Given the description of an element on the screen output the (x, y) to click on. 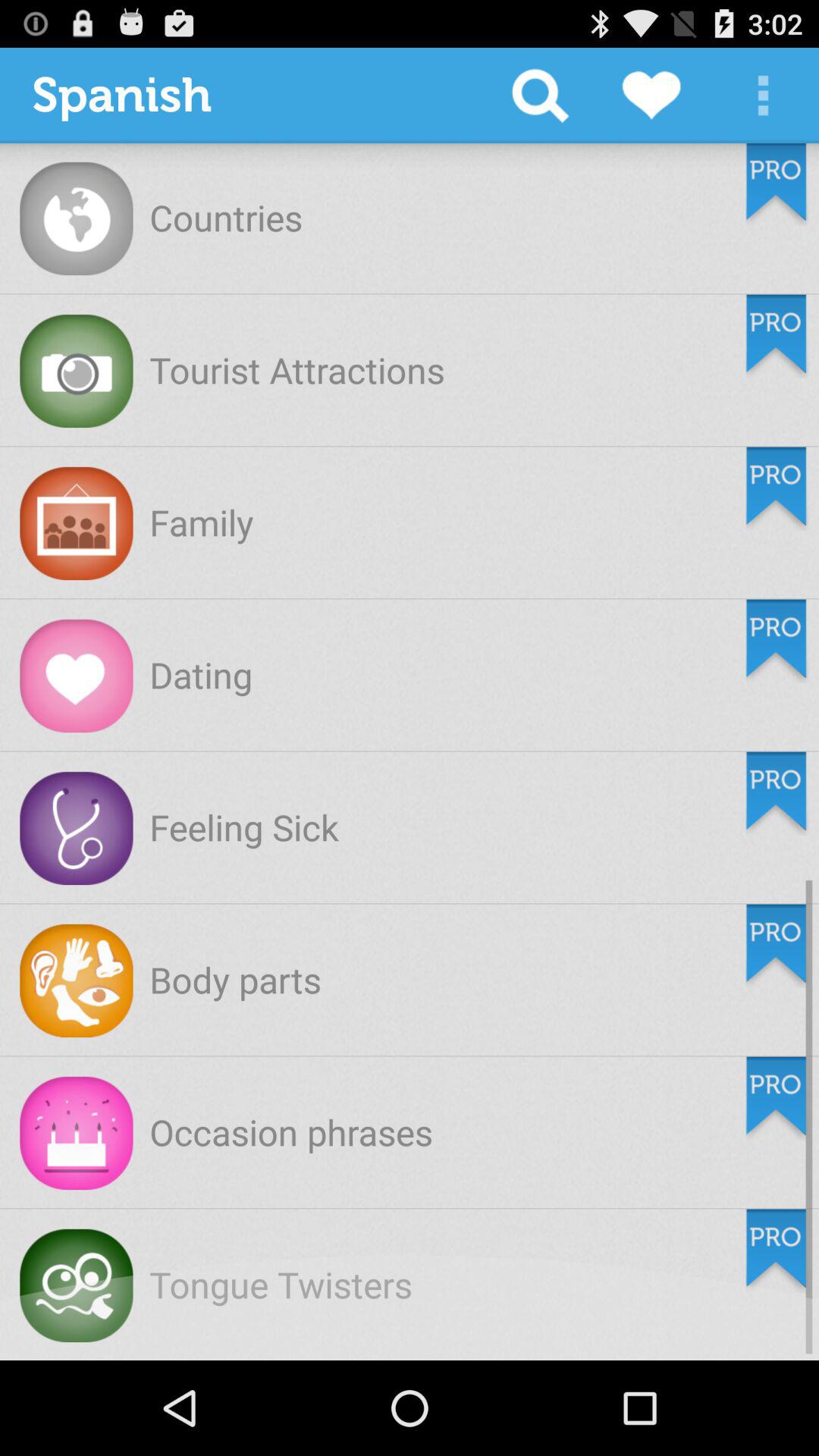
click the feeling sick app (243, 827)
